Given the description of an element on the screen output the (x, y) to click on. 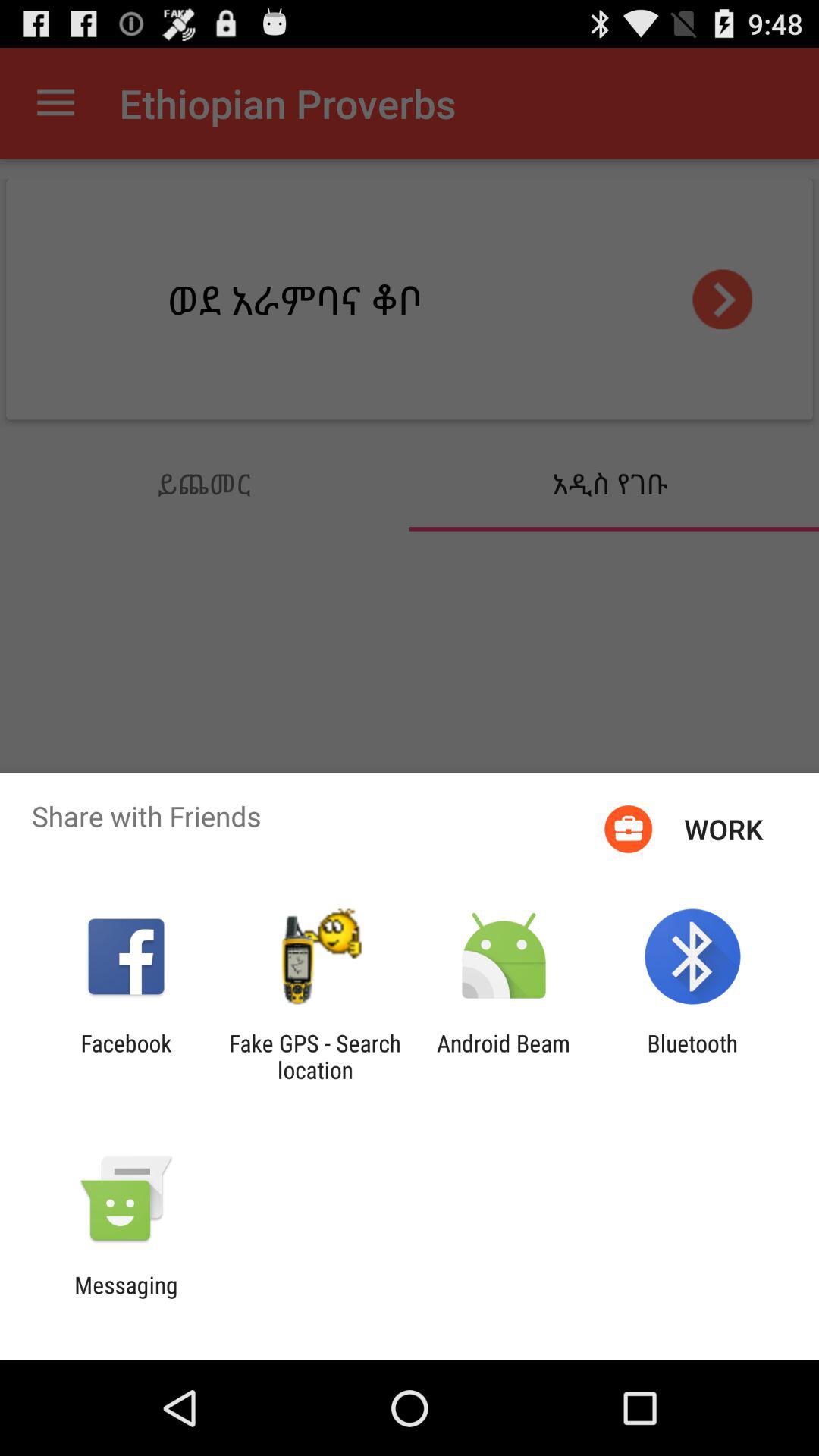
press the icon to the left of bluetooth app (503, 1056)
